Given the description of an element on the screen output the (x, y) to click on. 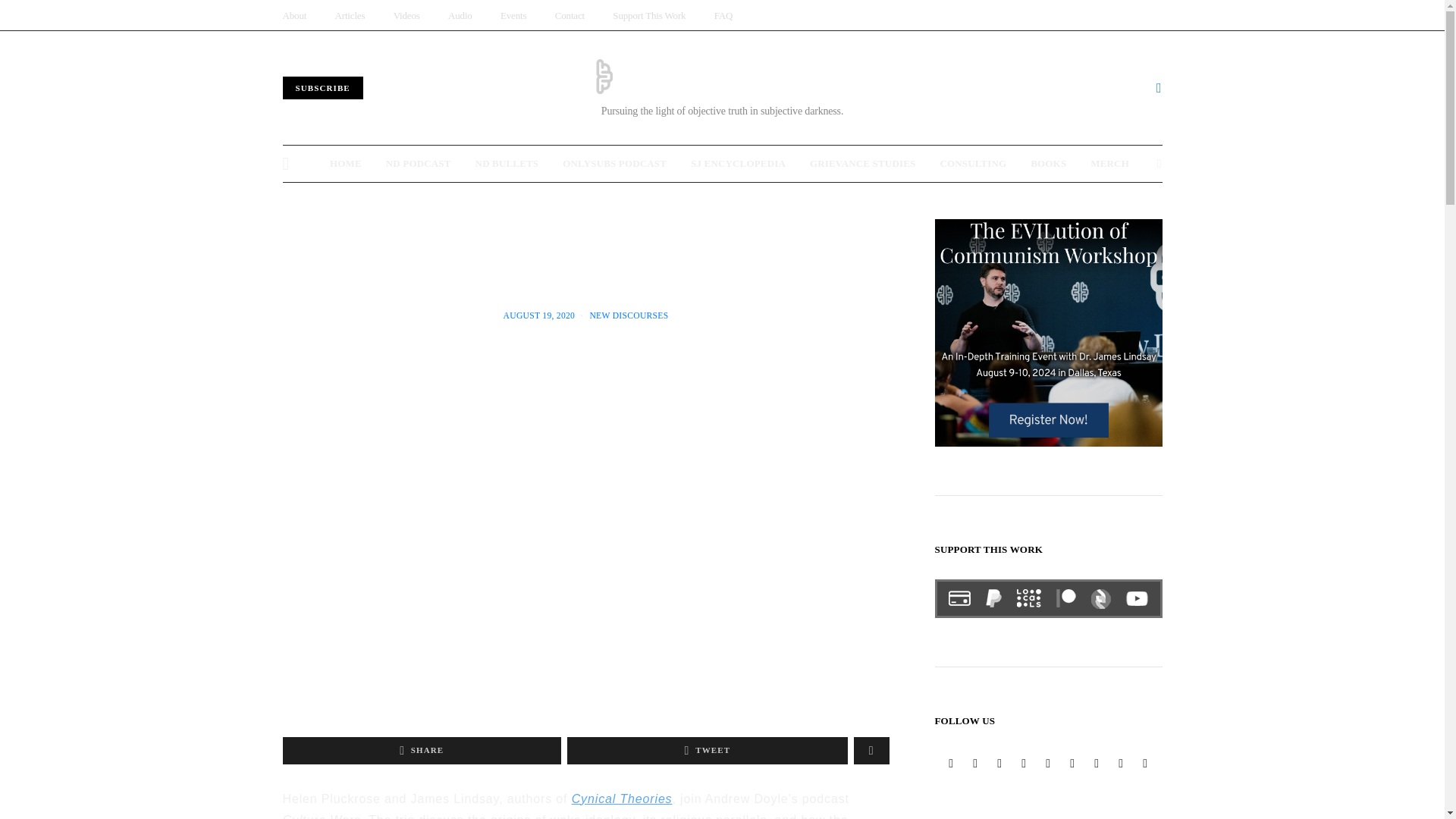
View all posts by New Discourses (628, 316)
Support This Work (1047, 599)
